Given the description of an element on the screen output the (x, y) to click on. 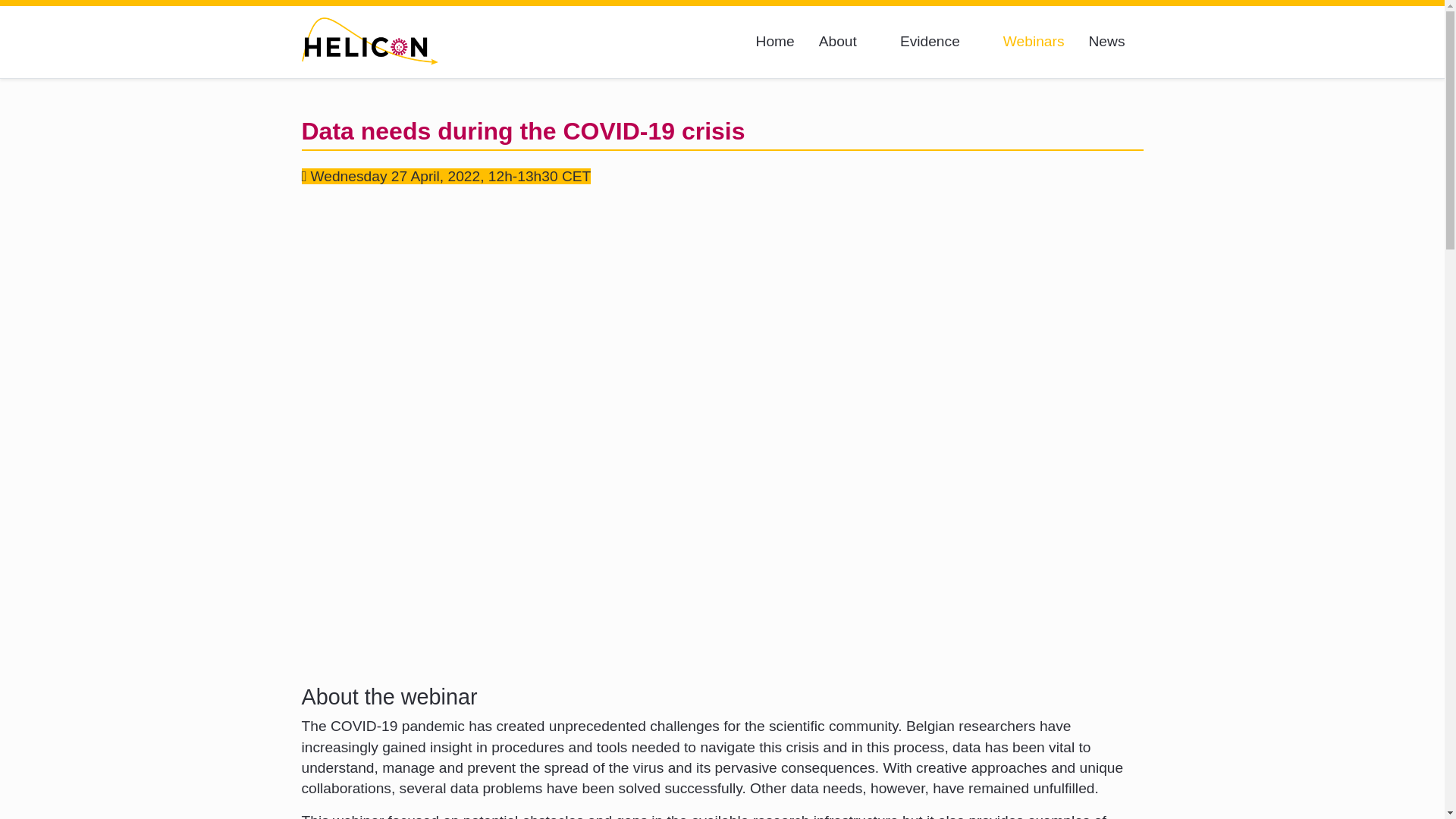
Home Element type: text (774, 41)
Evidence Element type: text (939, 41)
Webinars Element type: text (1033, 41)
About Element type: text (847, 41)
News Element type: text (1106, 41)
